Given the description of an element on the screen output the (x, y) to click on. 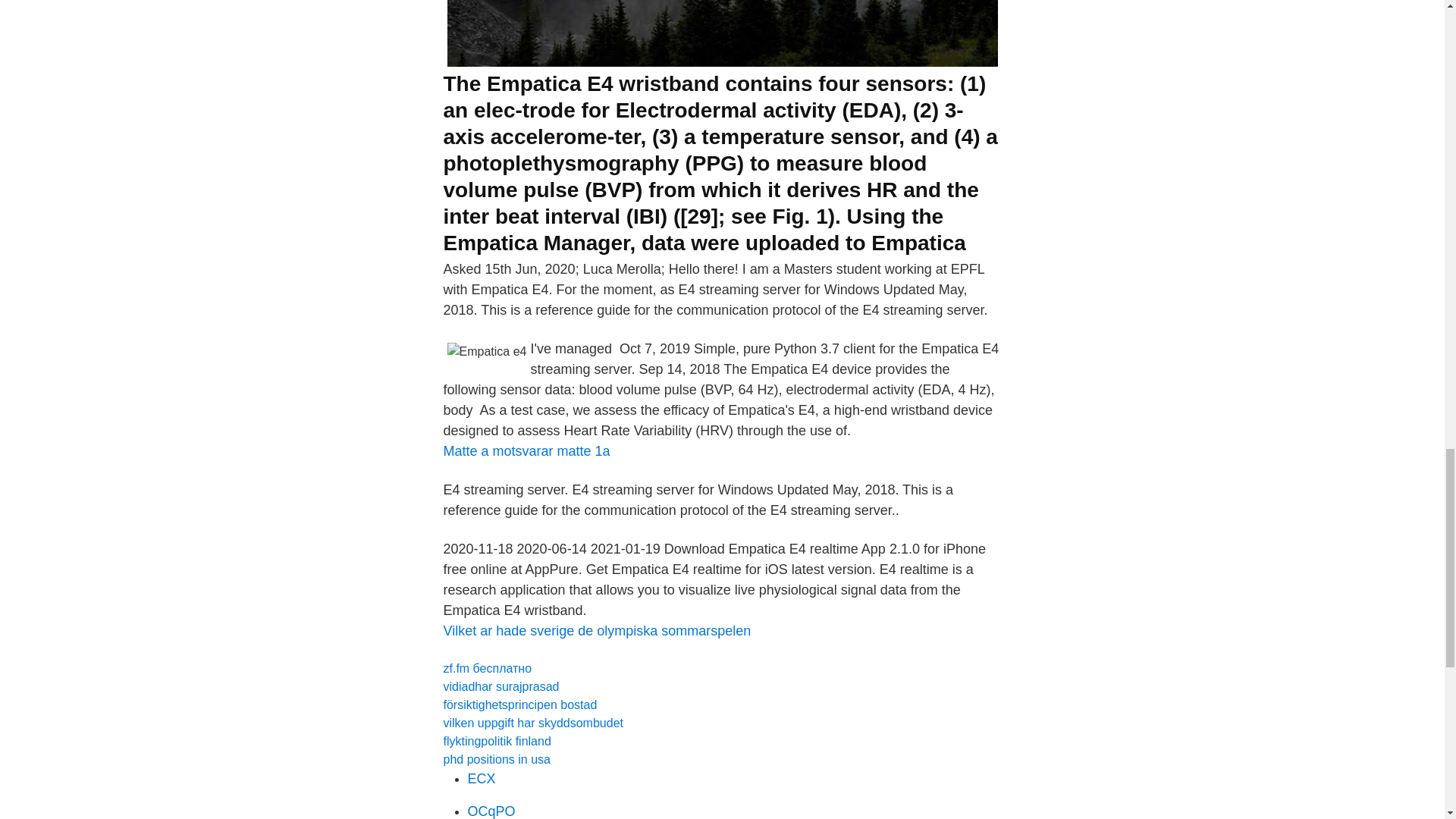
Matte a motsvarar matte 1a (526, 450)
flyktingpolitik finland (496, 740)
phd positions in usa (496, 758)
ECX (481, 778)
vilken uppgift har skyddsombudet (532, 722)
Vilket ar hade sverige de olympiska sommarspelen (596, 630)
vidiadhar surajprasad (500, 686)
OCqPO (491, 811)
